Given the description of an element on the screen output the (x, y) to click on. 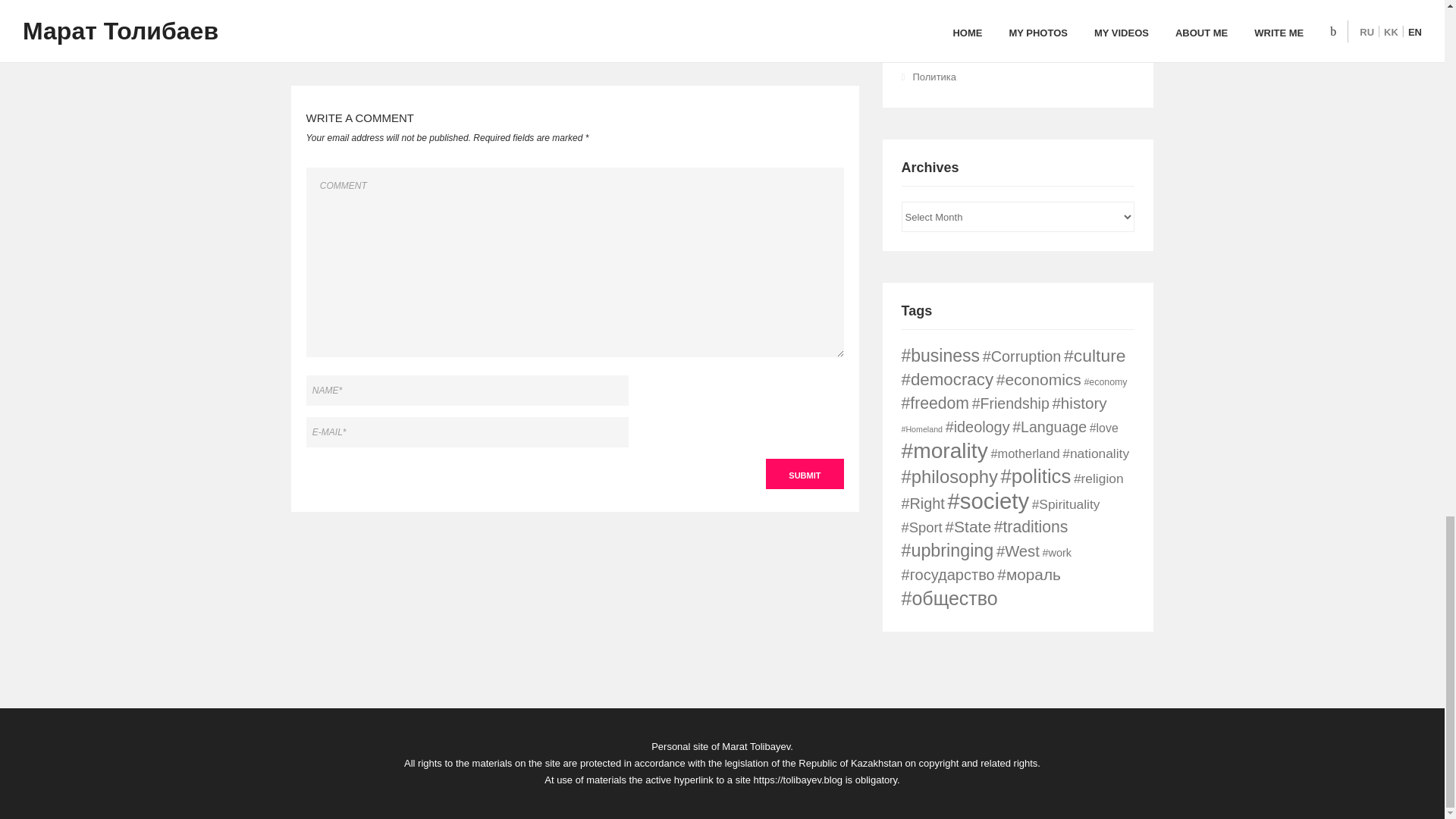
Society (928, 6)
SUBMIT (804, 473)
SUBMIT (804, 473)
